Given the description of an element on the screen output the (x, y) to click on. 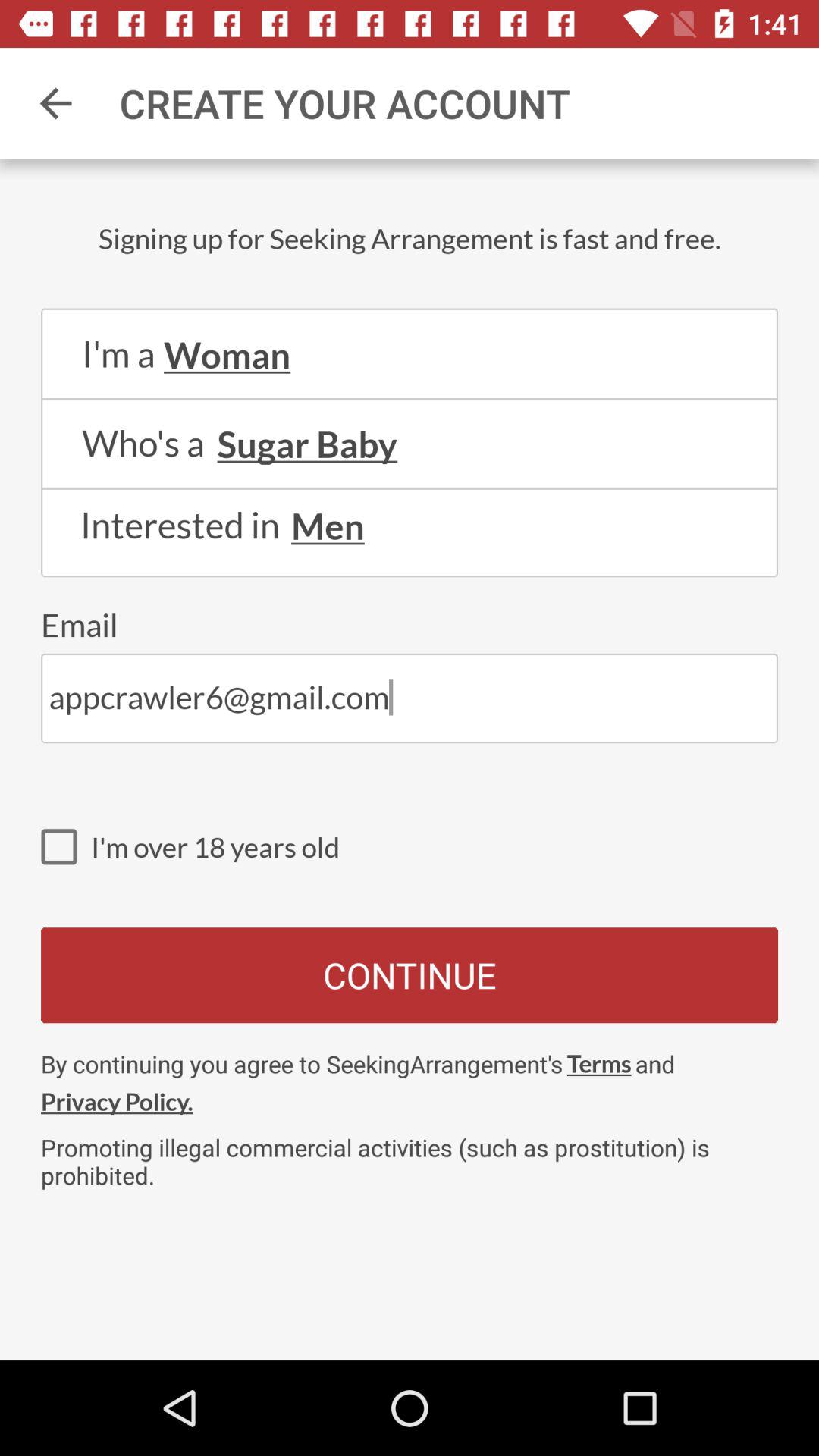
turn on icon above the interested in item (409, 488)
